Given the description of an element on the screen output the (x, y) to click on. 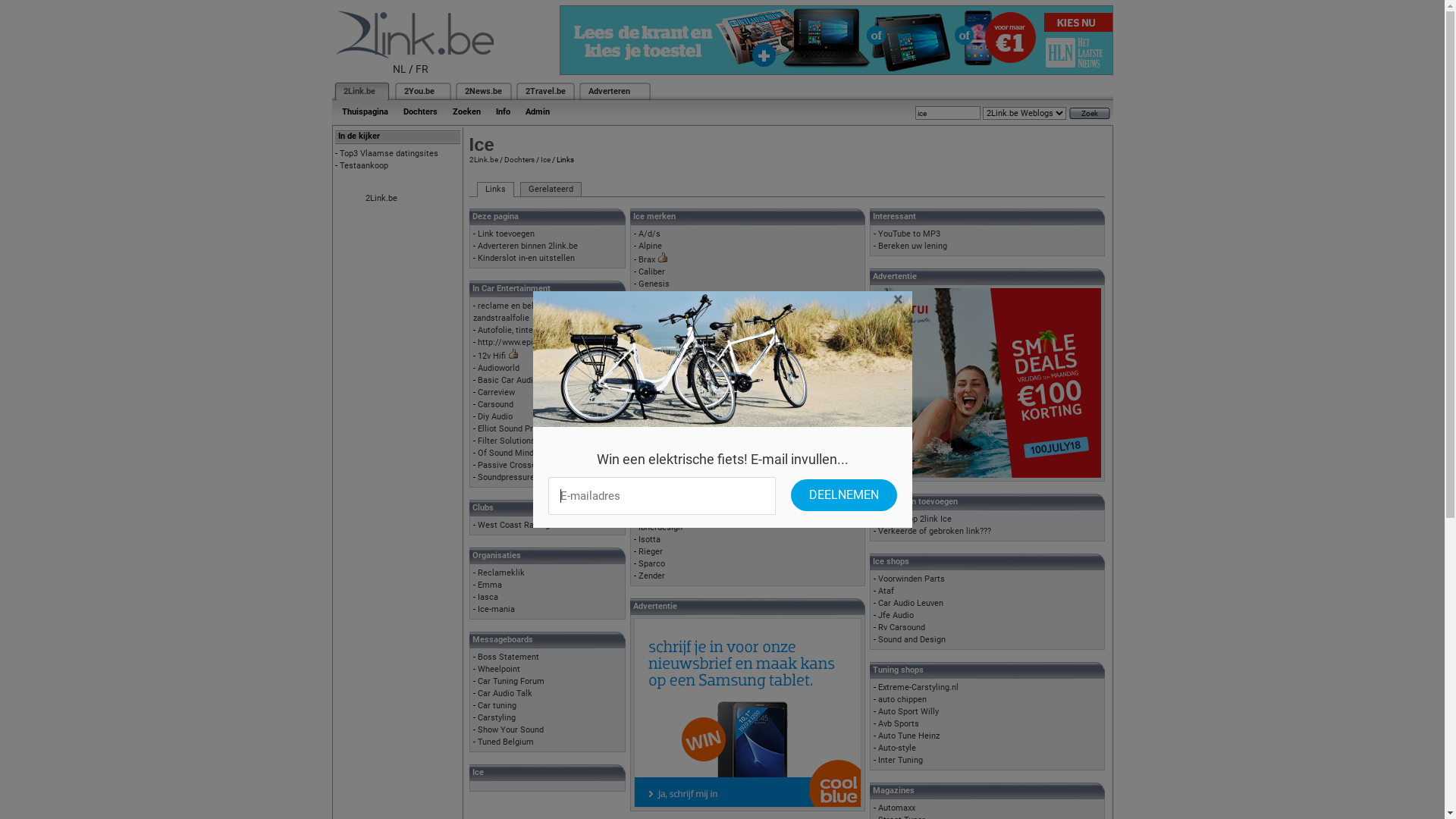
Autofolie, tinten van ramen Element type: text (528, 330)
Carstyling Element type: text (496, 717)
Spl Dynamics Element type: text (664, 418)
Adverteren Element type: text (609, 91)
Auto Sport Willy Element type: text (908, 711)
Helix Element type: text (647, 309)
Link toevoegen Element type: text (505, 233)
Zoeken Element type: text (465, 111)
Thuispagina Element type: text (364, 111)
Gerelateerd Element type: text (550, 189)
NL Element type: text (399, 68)
2Link.be Element type: text (358, 91)
Brax Element type: text (646, 259)
2Link.be Element type: text (381, 198)
FR Element type: text (421, 68)
Jvc Element type: text (644, 358)
Carcept Element type: text (653, 503)
Avb Sports Element type: text (898, 723)
Rieger Element type: text (650, 551)
Boss Statement Element type: text (508, 657)
Genesis Element type: text (653, 283)
auto chippen Element type: text (902, 699)
audio system / steg / exact! Element type: text (691, 455)
Tuned Belgium Element type: text (505, 741)
Of Sound Mind Element type: text (505, 453)
Iasca Element type: text (487, 597)
Ground Zero Element type: text (661, 296)
Elliot Sound Products Element type: text (517, 428)
Soundpressure Element type: text (505, 477)
Rv Carsound Element type: text (901, 627)
Carsound Element type: text (495, 404)
Inter Tuning Element type: text (900, 760)
Ataf Element type: text (886, 591)
Hifonics Element type: text (654, 333)
Bereken uw lening Element type: text (912, 246)
Reclameklik Element type: text (500, 572)
Emma Element type: text (489, 584)
Wheelpoint Element type: text (498, 669)
Car Audio Leuven Element type: text (910, 603)
Automaxx Element type: text (896, 807)
Uw site op 2link Ice Element type: text (914, 519)
Top3 Vlaamse datingsites Element type: text (388, 153)
http://www.epicenter-forum.de Element type: text (535, 342)
Soundstream Element type: text (663, 431)
Alpine Element type: text (650, 246)
Diy Audio Element type: text (494, 416)
Jl Audio Element type: text (653, 346)
Zoek Element type: text (1089, 113)
Info Element type: text (502, 111)
reclame en belettering - zandstraalfolie Element type: text (520, 312)
Sparco Element type: text (651, 563)
Dochters Element type: text (420, 111)
Extreme-Carstyling.nl Element type: text (918, 687)
Ice-mania Element type: text (495, 609)
Adverteren binnen 2link.be Element type: text (527, 246)
Testaankoop Element type: text (363, 165)
West Coast Racing Club Element type: text (522, 525)
A/d/s Element type: text (649, 233)
Pm Modifici Element type: text (661, 382)
Sound and Design Element type: text (911, 639)
Auto-style Element type: text (897, 748)
Dochters Element type: text (518, 159)
Voorwinden Parts Element type: text (911, 578)
Links Element type: text (494, 189)
Car Tuning Forum Element type: text (510, 681)
Ibherdesign Element type: text (660, 527)
Passive Crossovers Element type: text (514, 465)
Basic Car Audio Electronics Element type: text (529, 380)
Kinderslot in-en uitstellen Element type: text (525, 258)
2Travel.be Element type: text (544, 91)
2Link.be Element type: text (482, 159)
Carreview Element type: text (495, 392)
Caliber Element type: text (651, 271)
Show Your Sound Element type: text (510, 729)
Isotta Element type: text (649, 539)
Car tuning Element type: text (496, 705)
Jfe Audio Element type: text (895, 615)
Auto Tune Heinz Element type: text (908, 735)
2You.be Element type: text (418, 91)
Carzone Element type: text (653, 515)
Car Audio Talk Element type: text (504, 693)
Kenwood Element type: text (655, 370)
Admin Element type: text (536, 111)
Pioneer Element type: text (652, 406)
12v Hifi Element type: text (491, 355)
Audioworld Element type: text (498, 368)
Zender Element type: text (651, 575)
Ultradrive Element type: text (656, 443)
Phase Linear Element type: text (662, 394)
YouTube to MP3 Element type: text (909, 233)
Filter Solutions Element type: text (506, 440)
Hertz Element type: text (648, 321)
Verkeerde of gebroken link??? Element type: text (934, 531)
Ice Element type: text (544, 159)
2News.be Element type: text (482, 91)
